Given the description of an element on the screen output the (x, y) to click on. 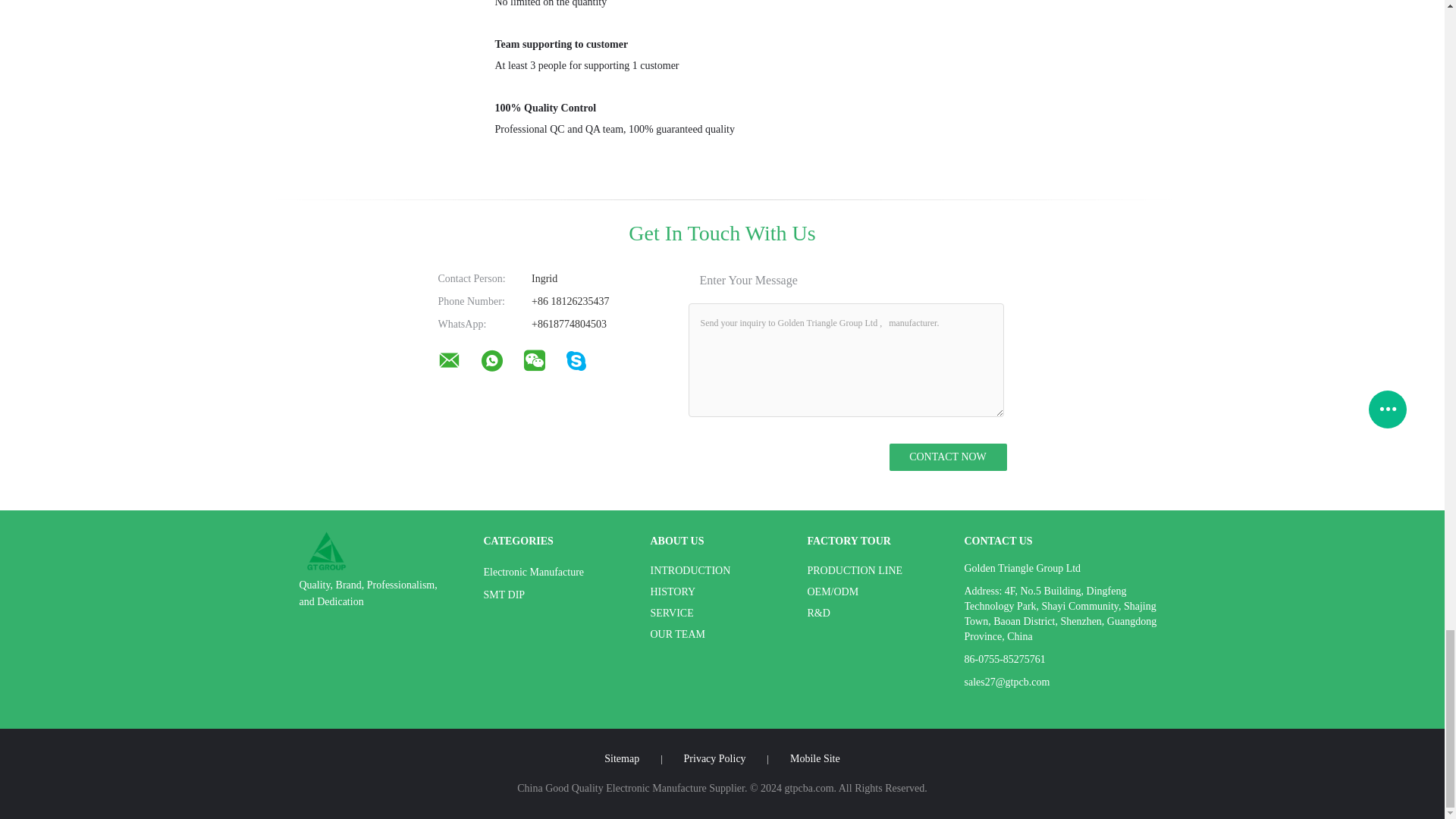
Contact Now (947, 456)
